Given the description of an element on the screen output the (x, y) to click on. 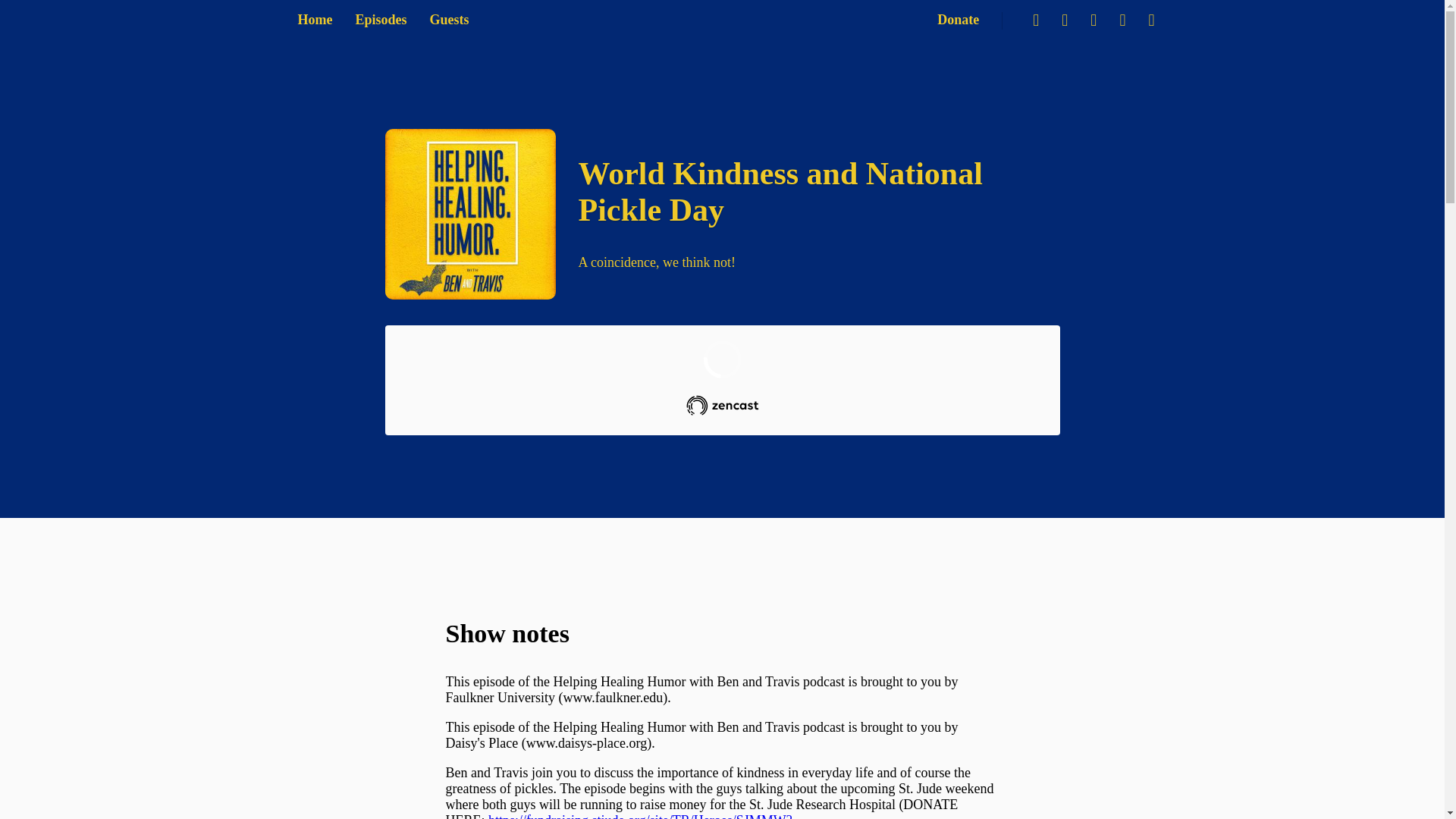
Home (314, 19)
Episodes (380, 19)
Guests (448, 19)
Donate (957, 19)
